Given the description of an element on the screen output the (x, y) to click on. 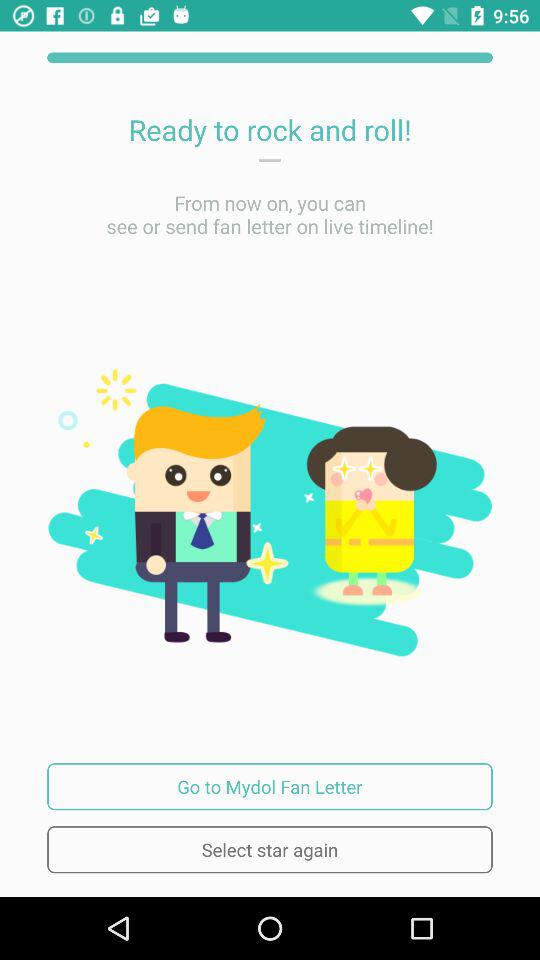
jump to the go to mydol icon (269, 786)
